Given the description of an element on the screen output the (x, y) to click on. 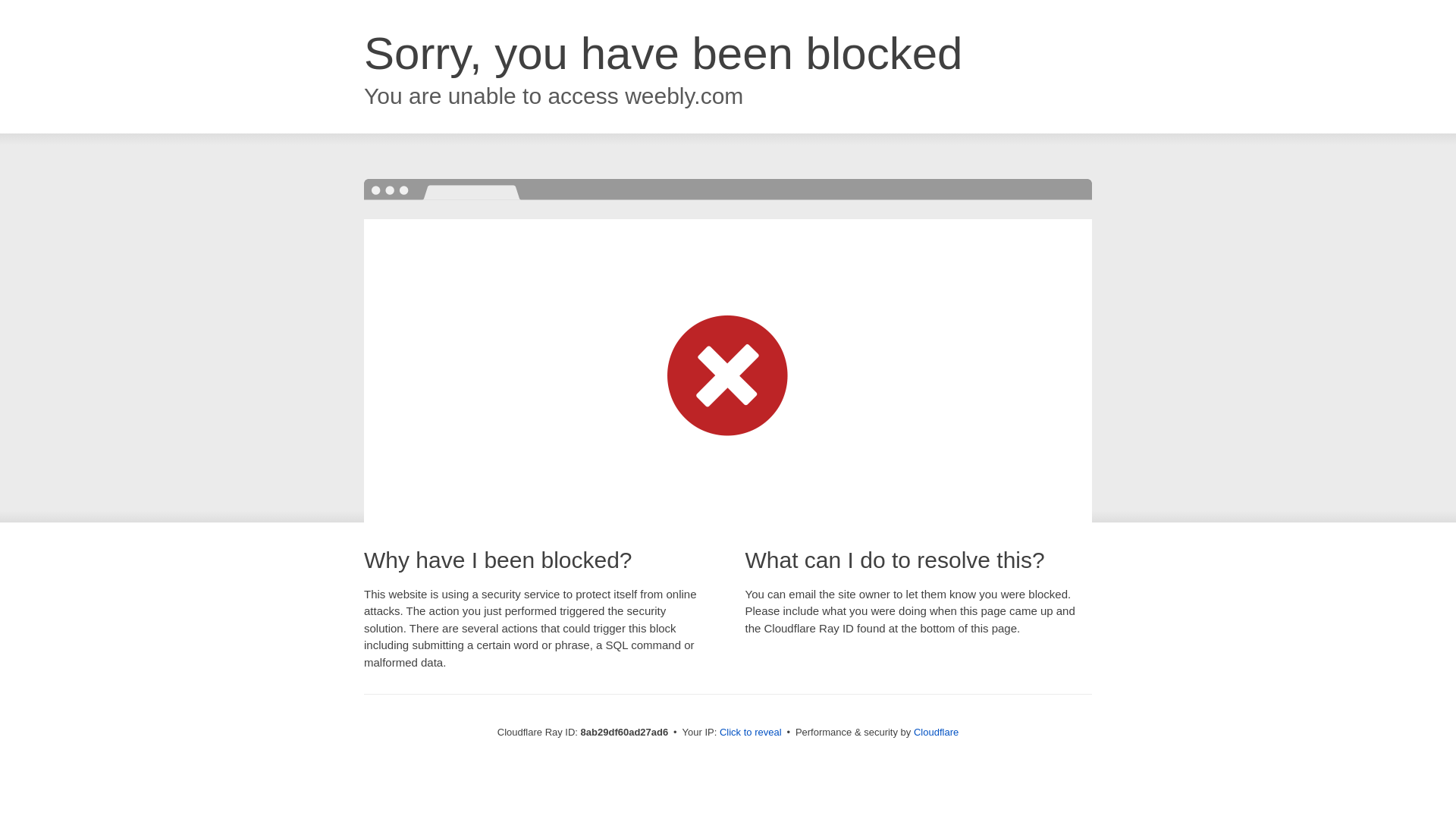
Cloudflare (936, 731)
Click to reveal (750, 732)
